Given the description of an element on the screen output the (x, y) to click on. 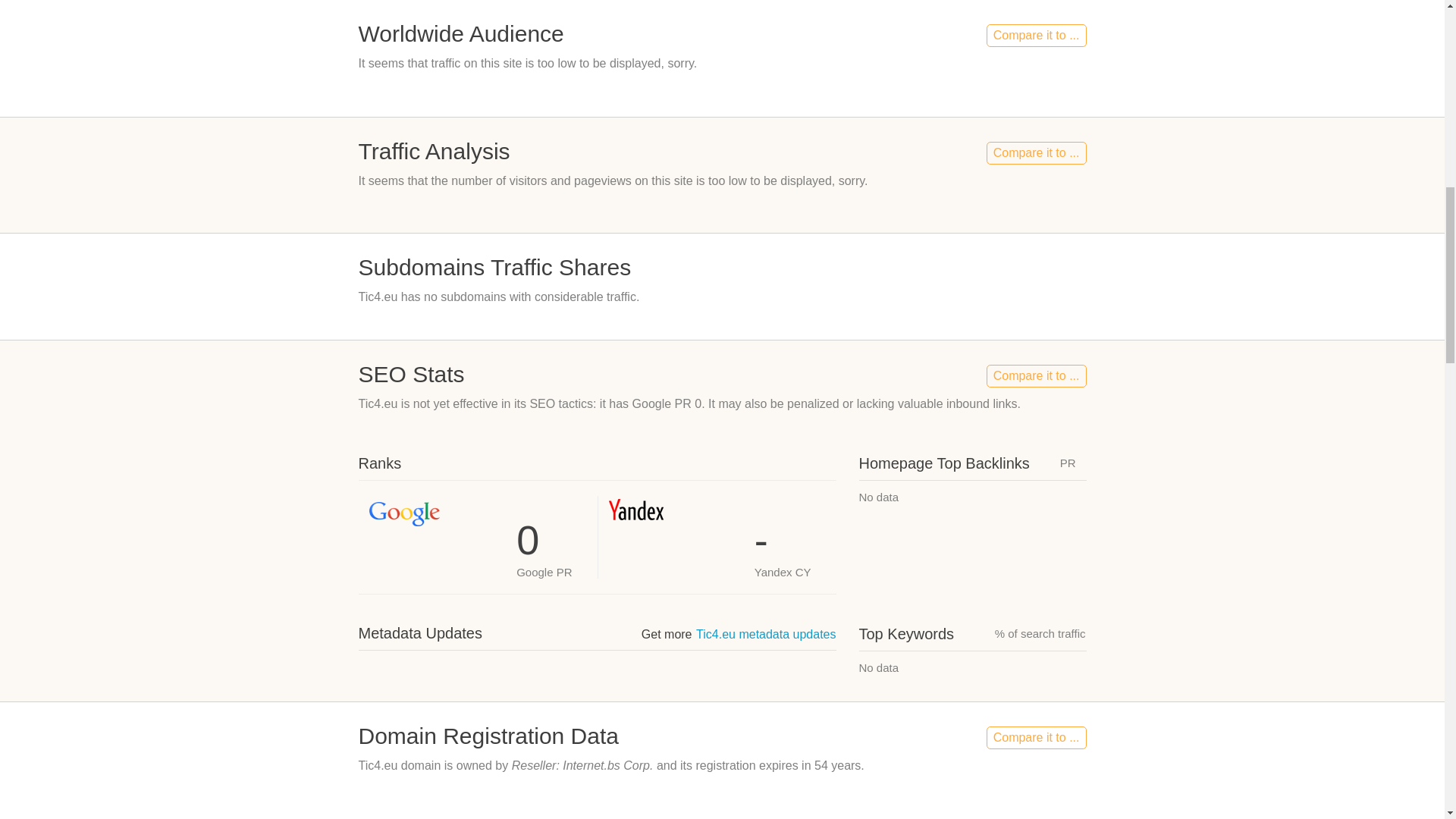
Tic4.eu metadata updates (765, 634)
Compare it to ... (1036, 737)
Compare it to ... (1036, 375)
Compare it to ... (1036, 152)
Compare it to ... (1036, 35)
